Given the description of an element on the screen output the (x, y) to click on. 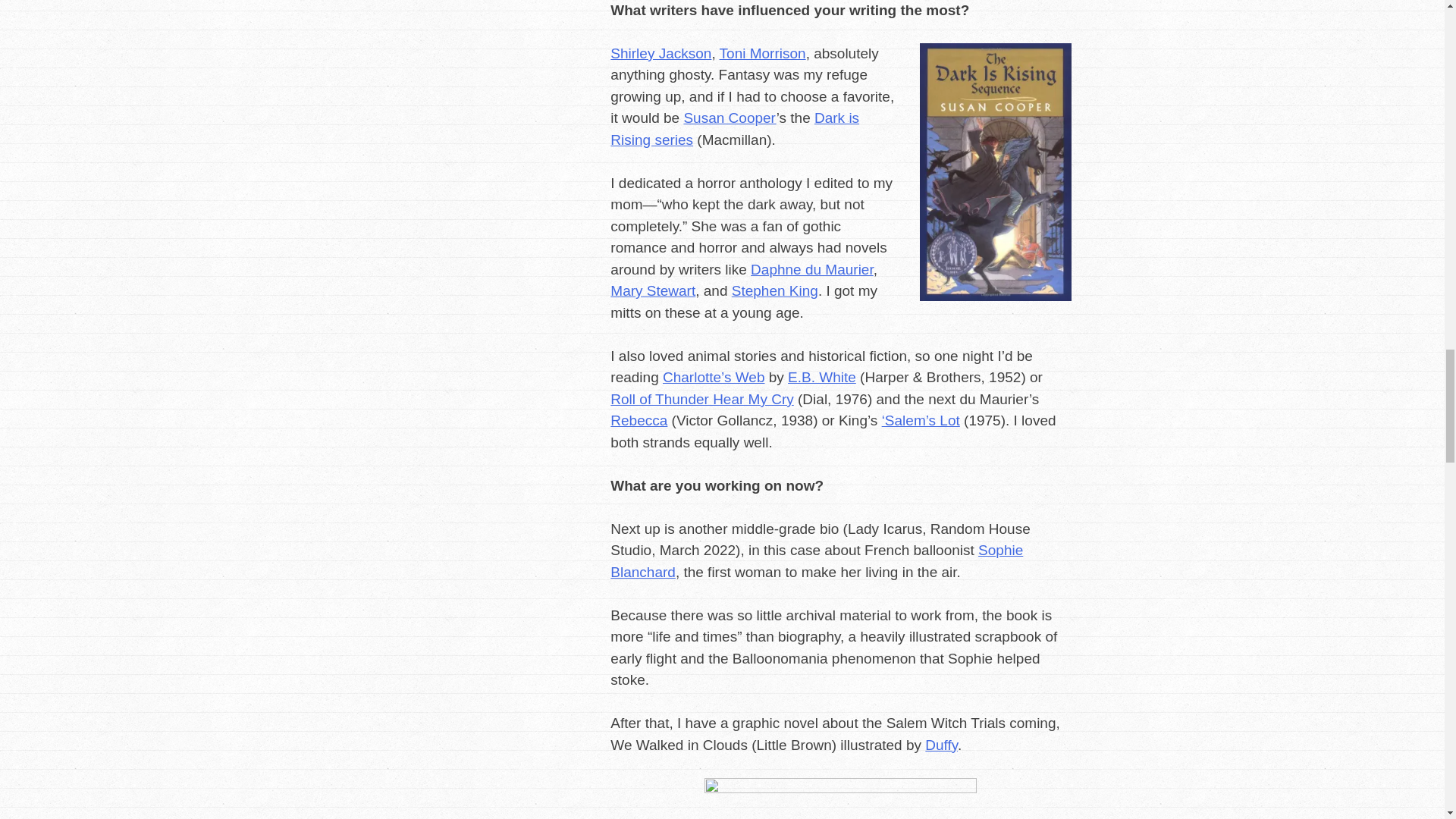
Stephen King (775, 290)
Shirley Jackson (660, 53)
Dark is Rising series (734, 128)
Toni Morrison (762, 53)
E.B. White (821, 376)
Daphne du Maurier (812, 269)
Roll of Thunder Hear My Cry (701, 399)
Mary Stewart (652, 290)
Susan Cooper (729, 117)
